Given the description of an element on the screen output the (x, y) to click on. 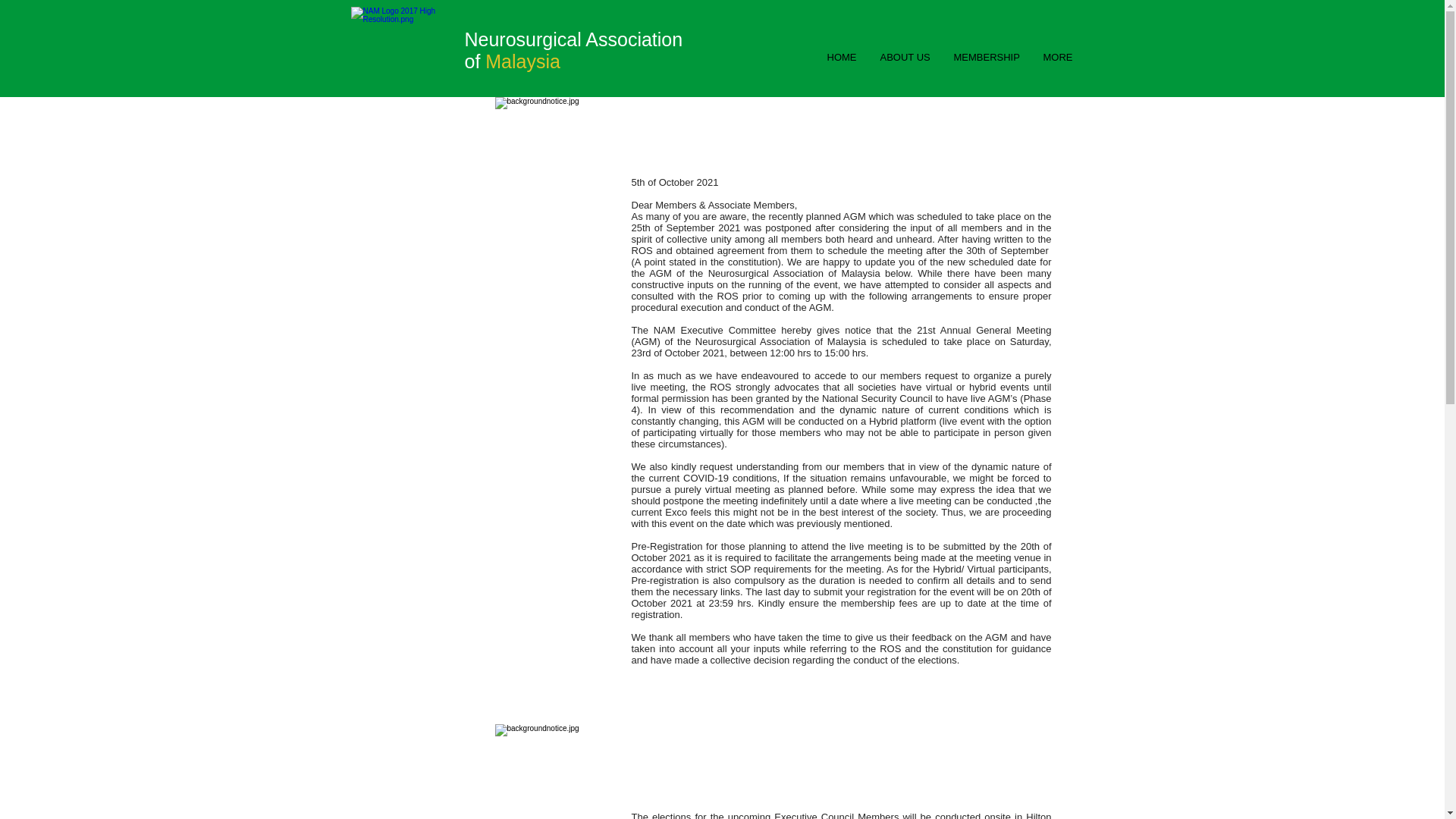
MEMBERSHIP (986, 56)
HOME (840, 56)
Home (402, 50)
ABOUT US (903, 56)
